Given the description of an element on the screen output the (x, y) to click on. 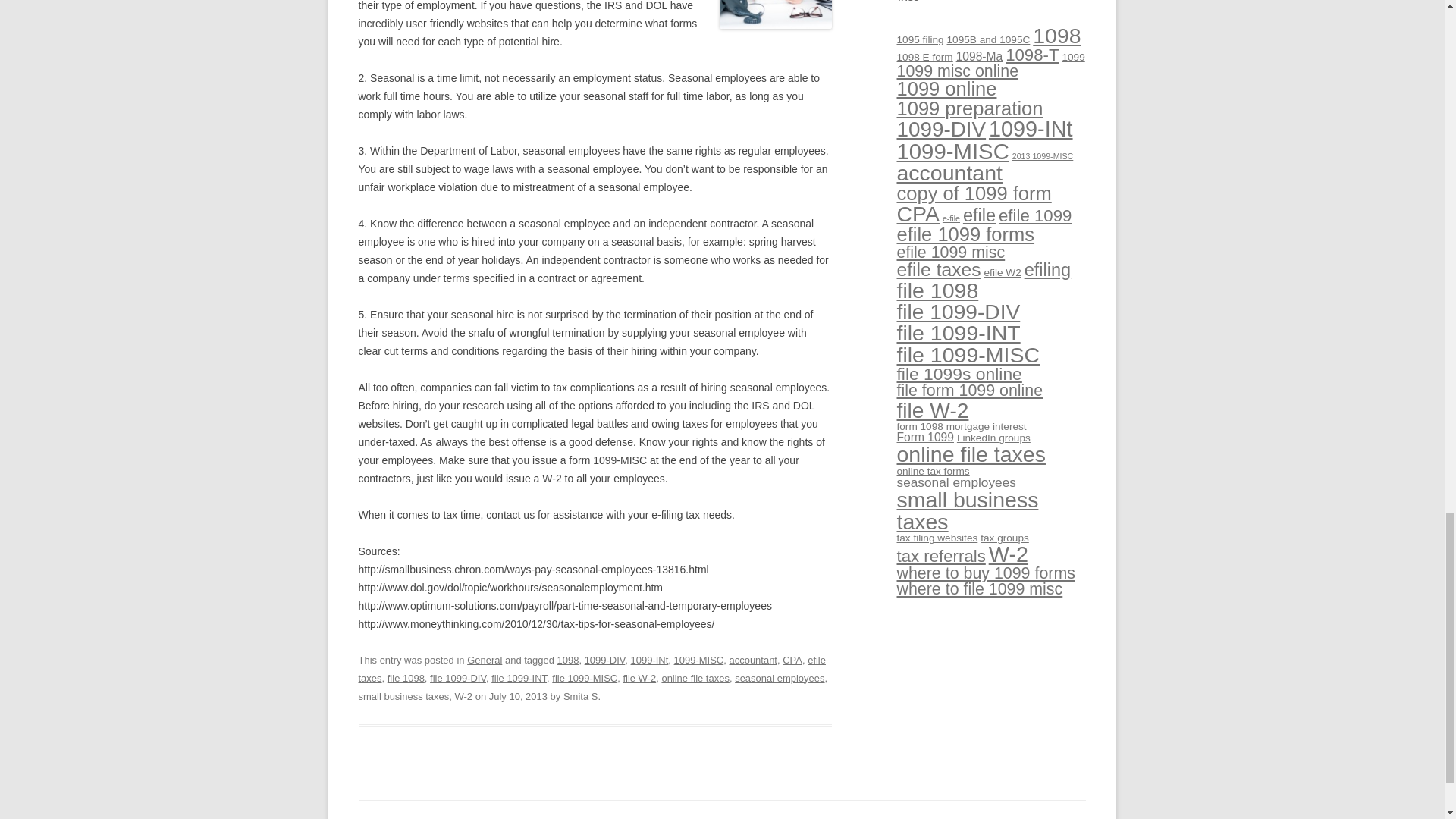
file W-2 (639, 677)
2:08 pm (518, 696)
W-2 (463, 696)
file 1099-MISC (584, 677)
CPA (792, 659)
file 1099-INT (519, 677)
online file taxes (695, 677)
Smita S (579, 696)
file 1099-DIV (457, 677)
July 10, 2013 (518, 696)
file 1098 (406, 677)
General (484, 659)
View all posts by Smita S (579, 696)
seasonal employees (779, 677)
small business taxes (403, 696)
